Given the description of an element on the screen output the (x, y) to click on. 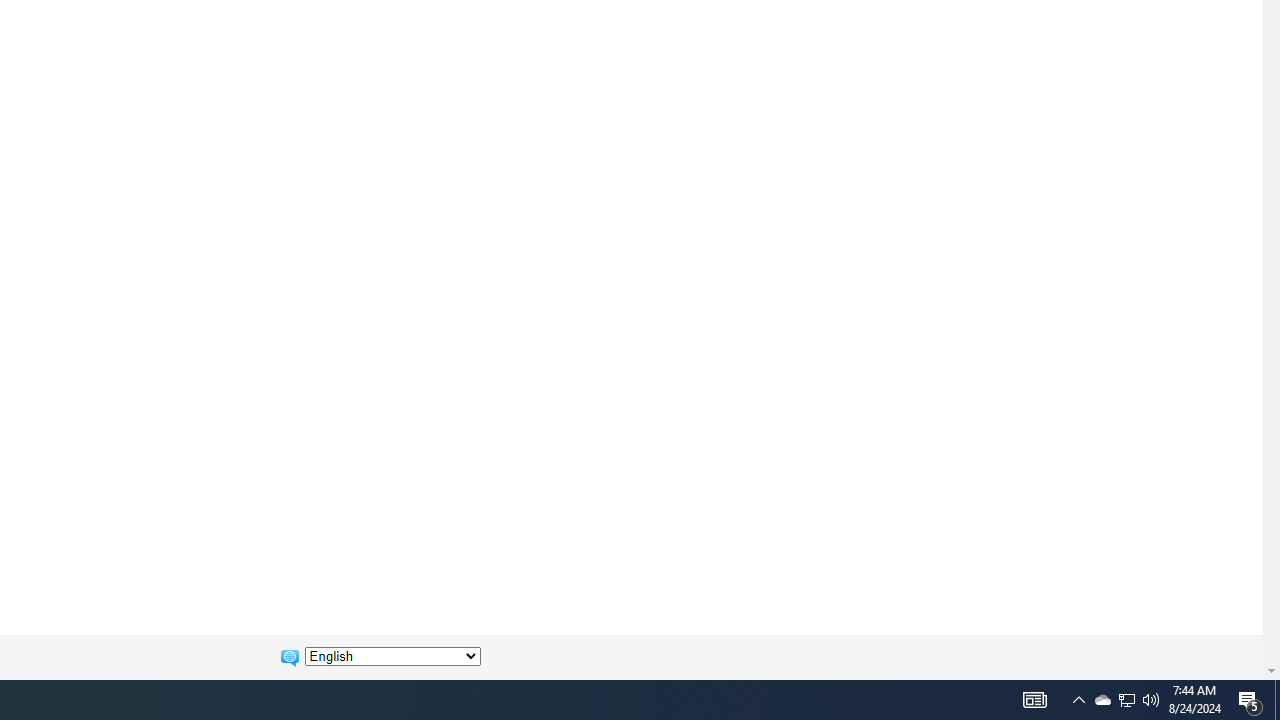
Change language: (392, 656)
